Given the description of an element on the screen output the (x, y) to click on. 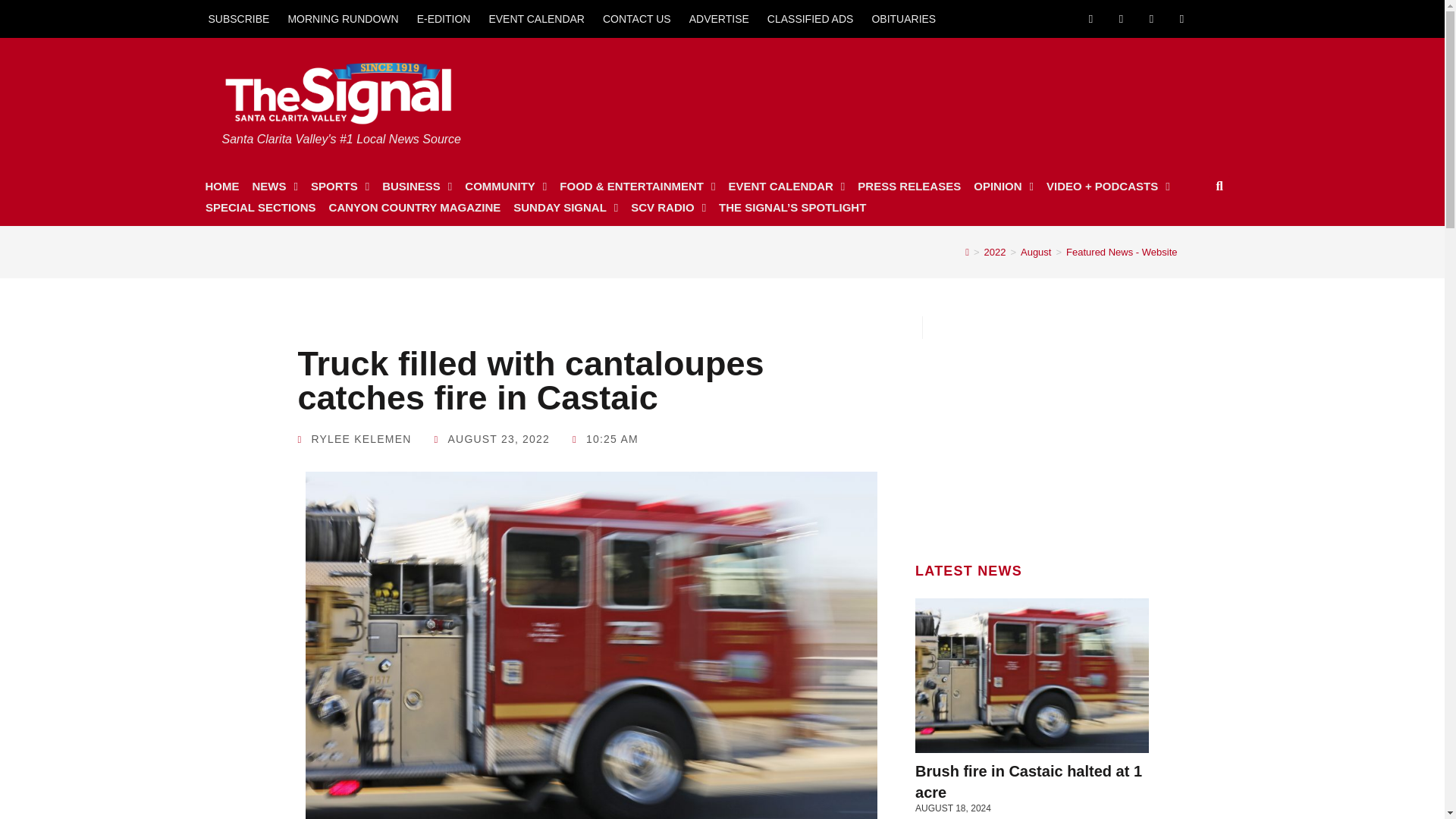
EVENT CALENDAR (536, 18)
OBITUARIES (902, 18)
3rd party ad content (1031, 433)
SUBSCRIBE (238, 18)
ADVERTISE (718, 18)
CLASSIFIED ADS (810, 18)
SPORTS (339, 186)
NEWS (274, 186)
3rd party ad content (932, 94)
MORNING RUNDOWN (342, 18)
